Given the description of an element on the screen output the (x, y) to click on. 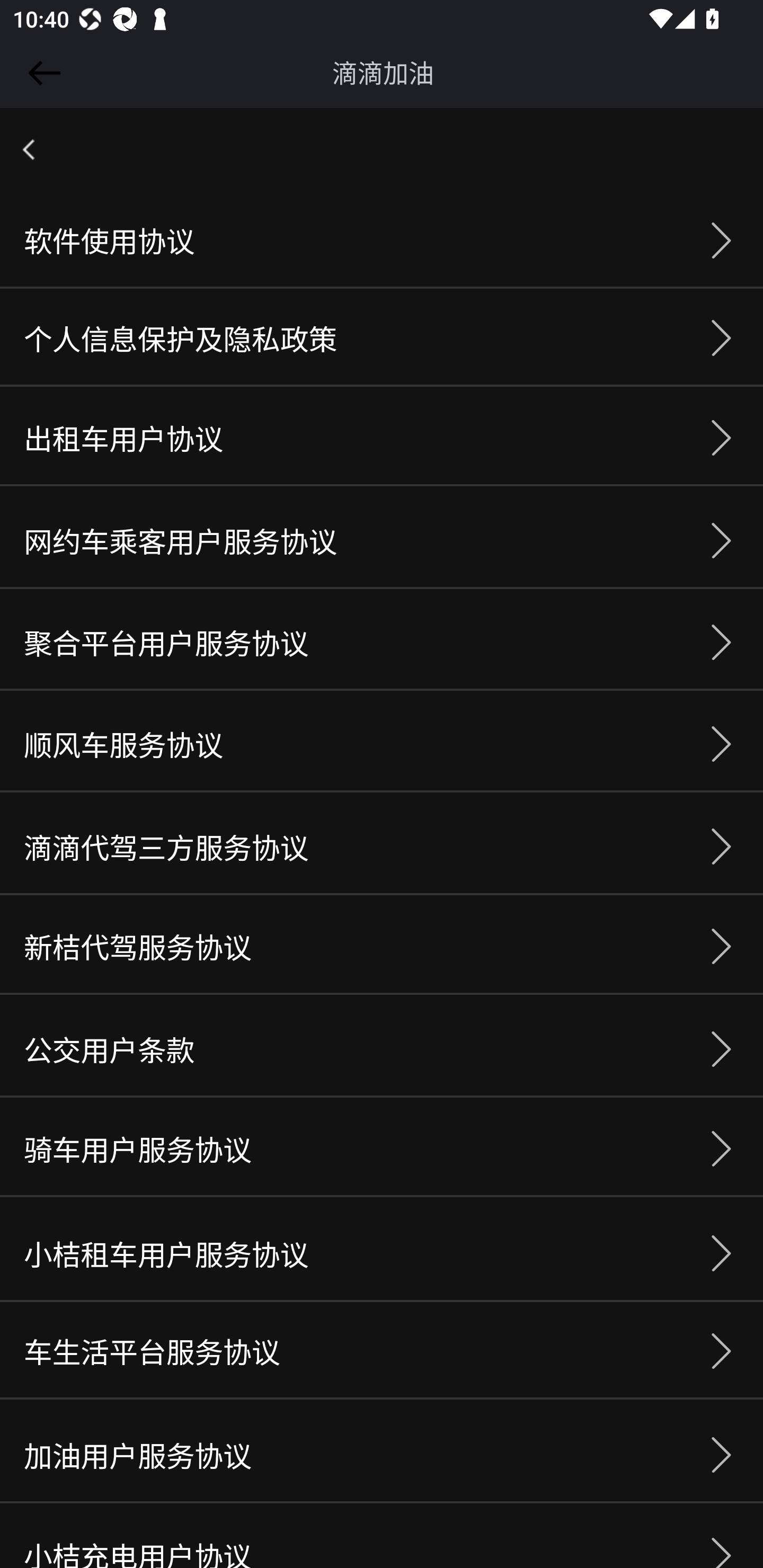
 (41, 72)
软件使用协议 rJTaWRf4Q (381, 241)
个人信息保护及隐私政策 rJTaWRf4Q (381, 338)
出租车用户协议 rJTaWRf4Q (381, 438)
网约车乘客用户服务协议 rJTaWRf4Q (381, 541)
聚合平台用户服务协议 rJTaWRf4Q (381, 643)
顺风车服务协议 rJTaWRf4Q (381, 745)
滴滴代驾三方服务协议 rJTaWRf4Q (381, 847)
新桔代驾服务协议 rJTaWRf4Q (381, 947)
公交用户条款 rJTaWRf4Q (381, 1050)
骑车用户服务协议 rJTaWRf4Q (381, 1148)
小桔租车用户服务协议 rJTaWRf4Q (381, 1254)
车生活平台服务协议 rJTaWRf4Q (381, 1352)
加油用户服务协议 rJTaWRf4Q (381, 1455)
小桔充电用户协议 rJTaWRf4Q (381, 1538)
